Given the description of an element on the screen output the (x, y) to click on. 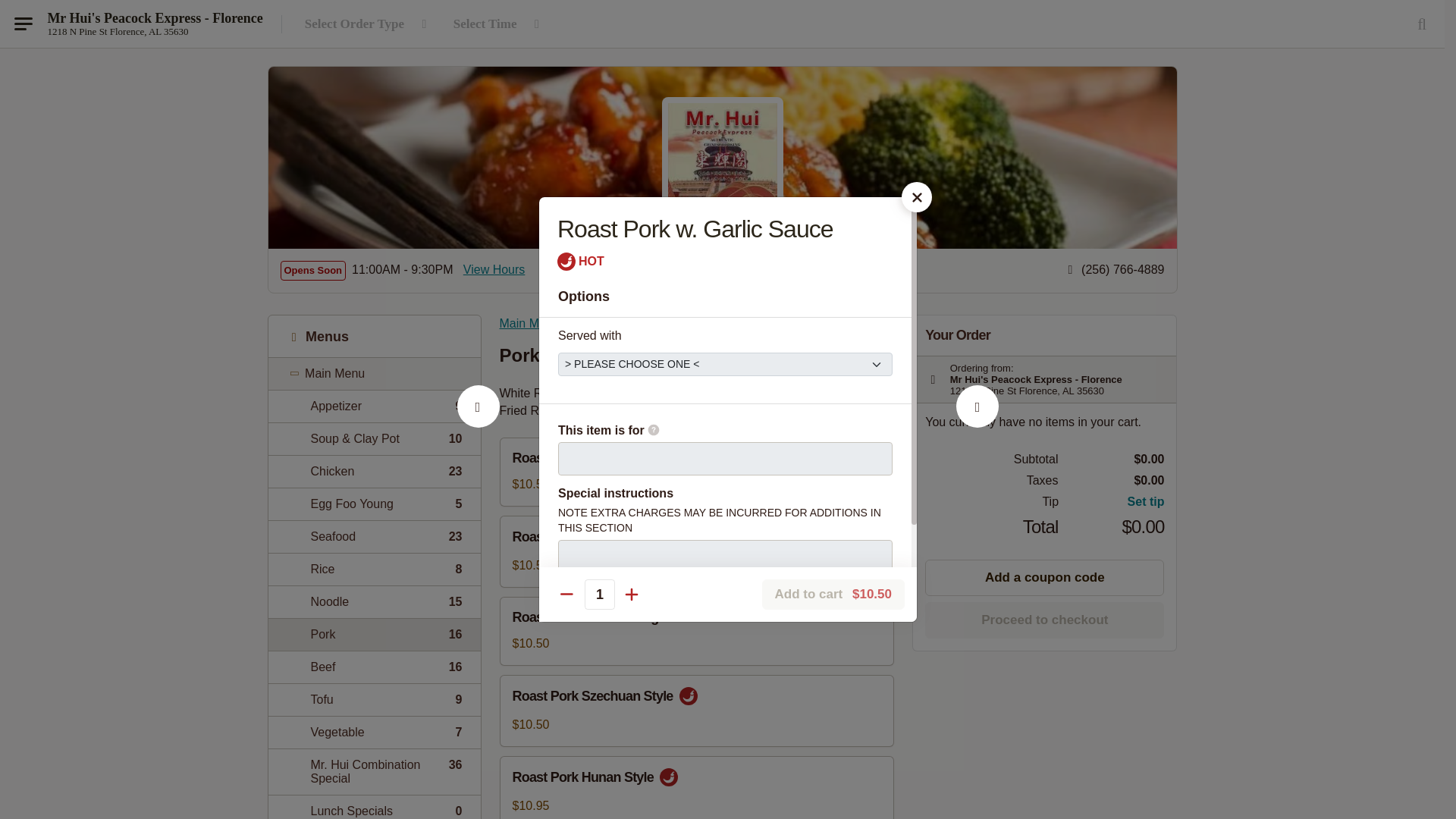
Proceed to checkout (1043, 619)
Select Time (498, 23)
1 (599, 594)
View Hours (373, 503)
Add tip (494, 270)
Mr Hui's Peacock Express - Florence (373, 536)
Select Order Type (373, 699)
Roast Pork w. Mixed Vegetable (373, 731)
Choose a Served with (1112, 501)
